Given the description of an element on the screen output the (x, y) to click on. 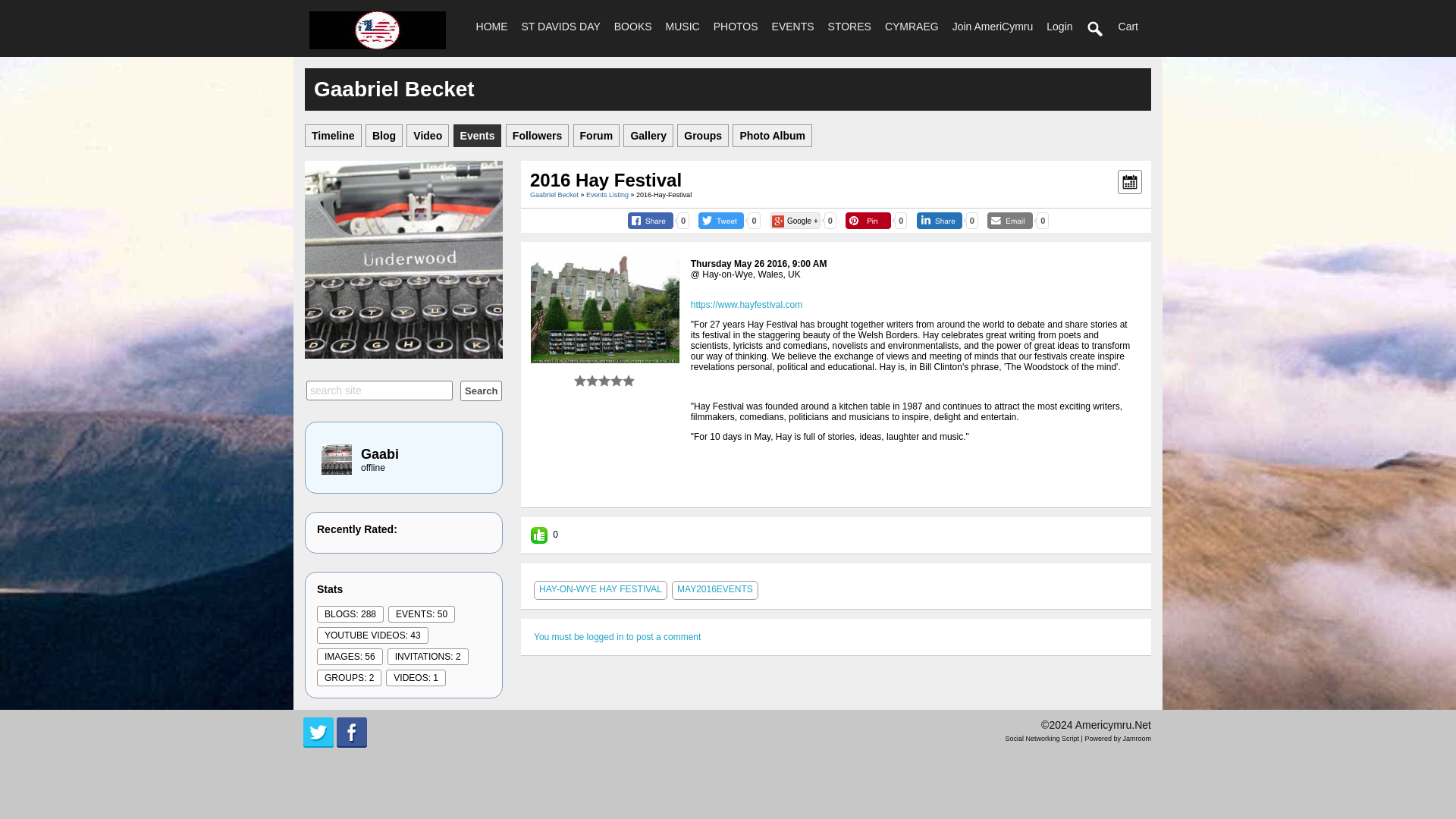
AmeriCymru Event Calendar (1129, 181)
2 (585, 380)
Like AmeriCymru on Facebook (351, 732)
search (1096, 29)
search (481, 390)
4 (598, 380)
HOME (491, 26)
americymru.net (376, 30)
1 (579, 380)
Like (538, 535)
5 (603, 380)
search (1095, 29)
ST DAVIDS DAY (561, 26)
3 (591, 380)
